Given the description of an element on the screen output the (x, y) to click on. 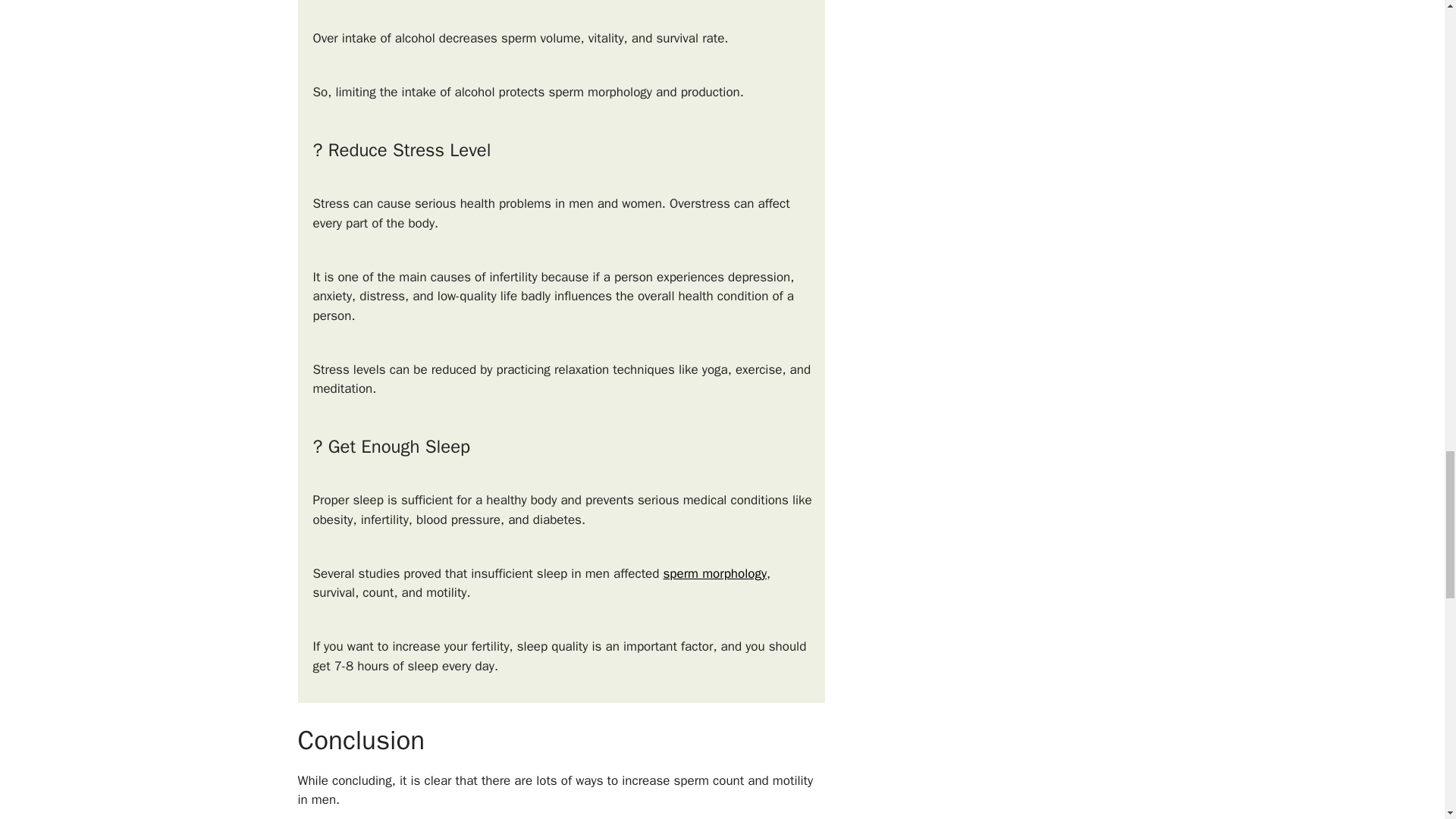
sperm morphology (715, 573)
